Given the description of an element on the screen output the (x, y) to click on. 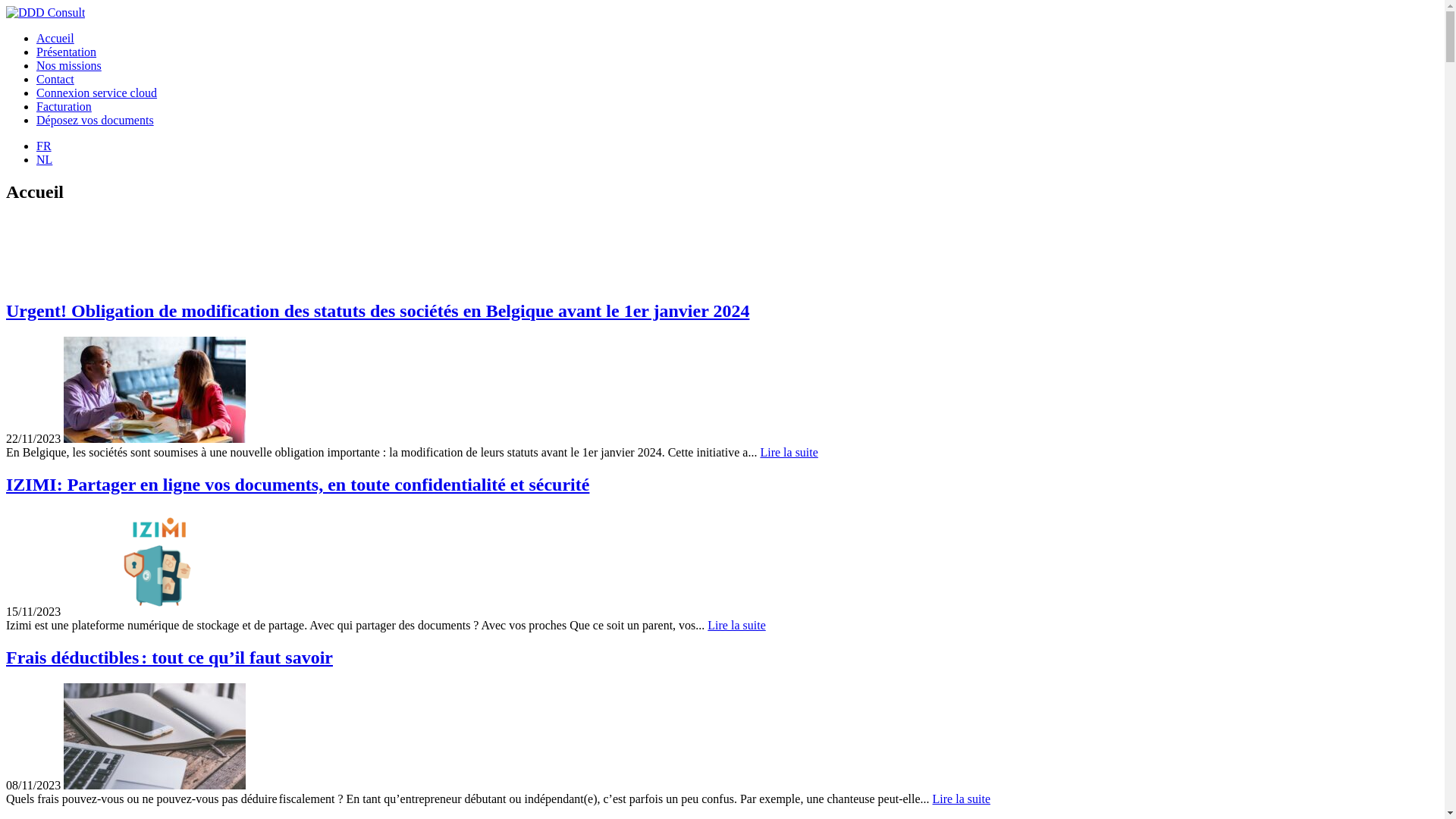
Lire la suite Element type: text (736, 624)
Accueil Element type: text (55, 37)
Lire la suite Element type: text (788, 451)
Nos missions Element type: text (68, 65)
NL Element type: text (44, 159)
FR Element type: text (43, 145)
Contact Element type: text (55, 78)
DDD Consult Element type: hover (45, 12)
Facturation Element type: text (63, 106)
Connexion service cloud Element type: text (96, 92)
Lire la suite Element type: text (961, 798)
